Given the description of an element on the screen output the (x, y) to click on. 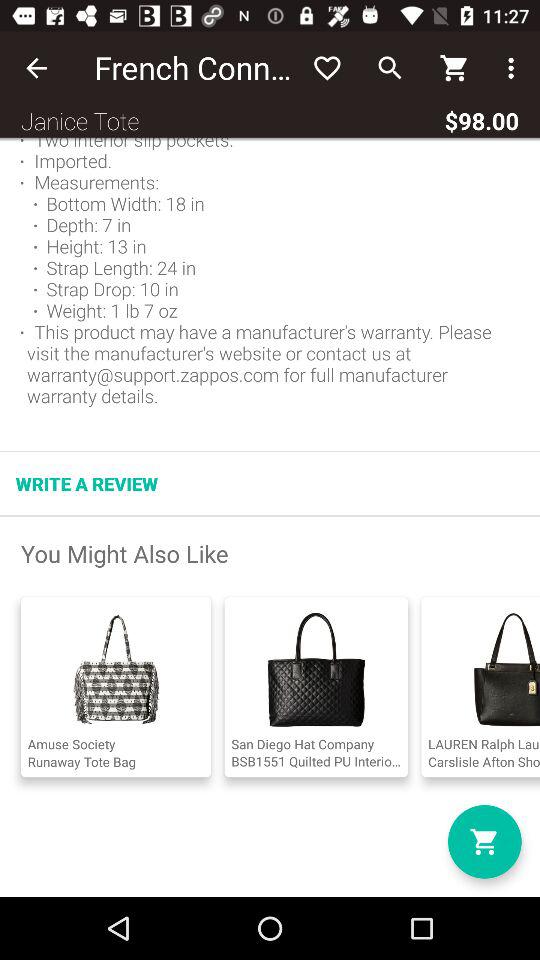
select item next to french connection icon (326, 67)
